Given the description of an element on the screen output the (x, y) to click on. 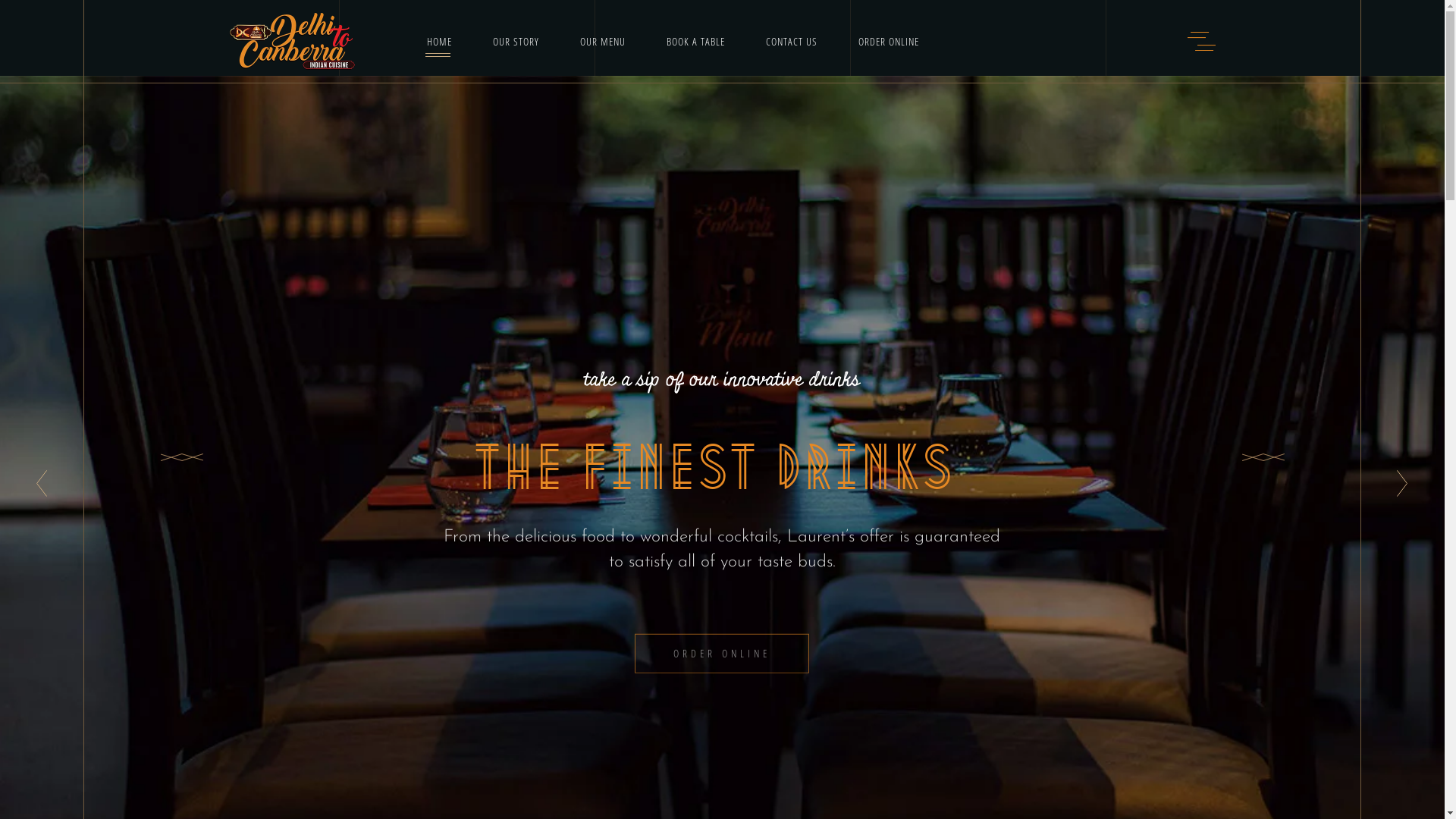
HOME Element type: text (423, 41)
OUR STORY Element type: text (514, 41)
BOOK A TABLE Element type: text (695, 41)
CONTACT US Element type: text (790, 41)
OUR MENU Element type: text (602, 41)
ORDER ONLINE Element type: text (887, 41)
